Given the description of an element on the screen output the (x, y) to click on. 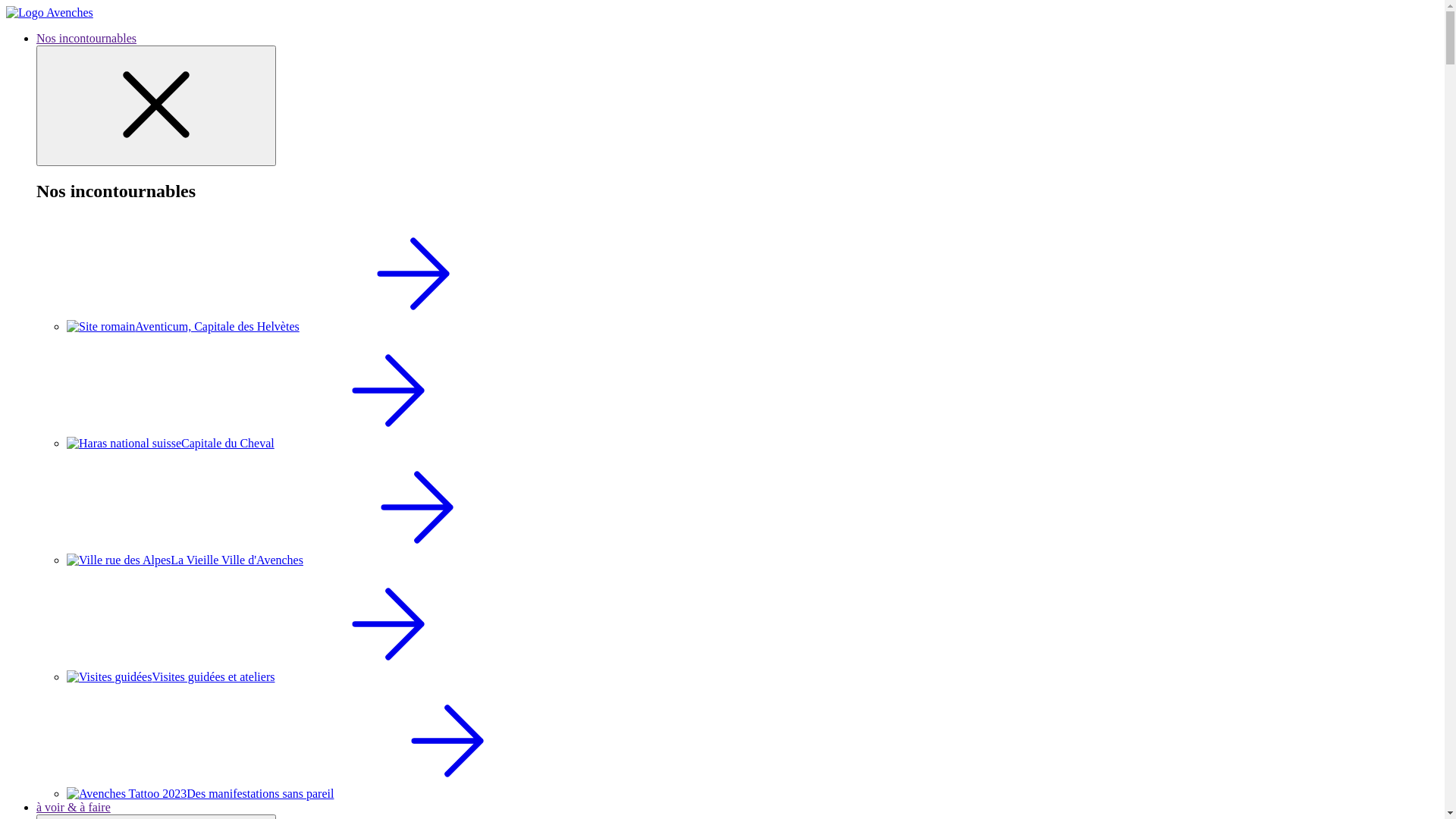
Nos incontournables Element type: text (86, 37)
Des manifestations sans pareil Element type: text (313, 793)
Capitale du Cheval Element type: text (284, 442)
La Vieille Ville d'Avenches Element type: text (298, 559)
